Given the description of an element on the screen output the (x, y) to click on. 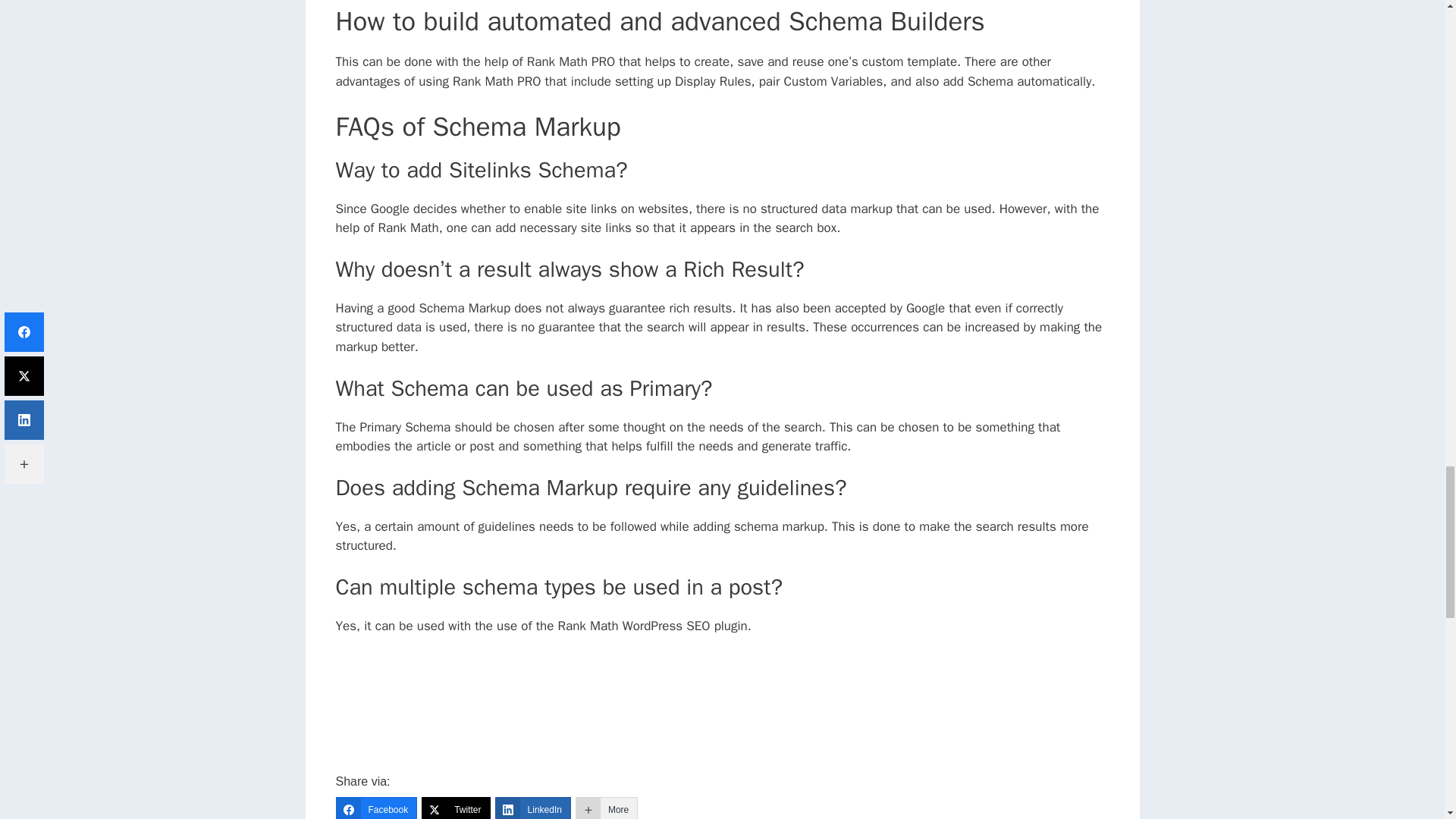
Content Protection by DMCA.com (994, 764)
Twitter (455, 807)
Facebook (375, 807)
More (606, 807)
LinkedIn (532, 807)
